Given the description of an element on the screen output the (x, y) to click on. 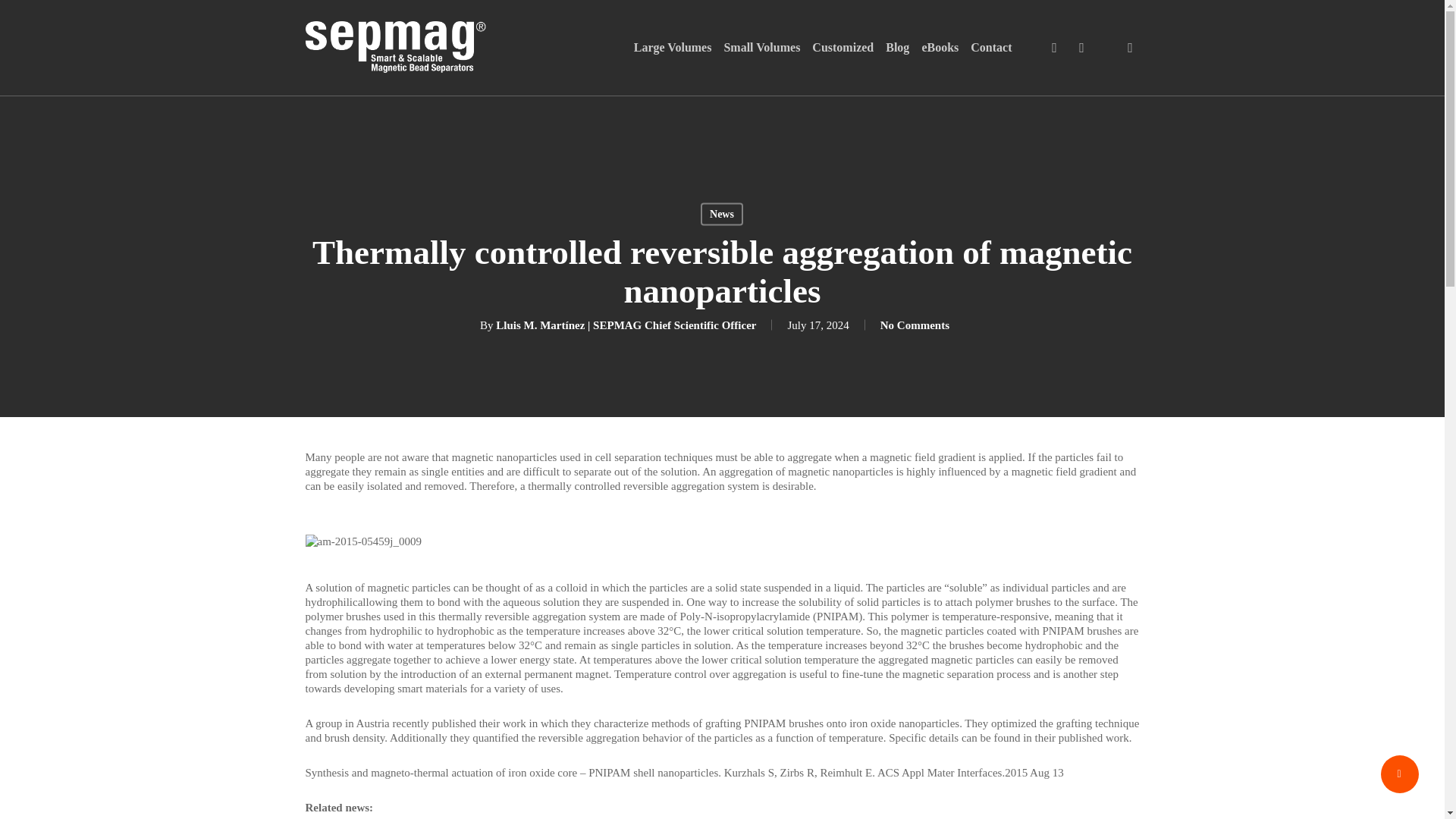
youtube (1080, 47)
Customized (842, 47)
linkedin (1054, 47)
Small Volumes (761, 47)
Contact (991, 47)
News (721, 214)
Blog (896, 47)
eBooks (939, 47)
search (1129, 47)
No Comments (914, 324)
Large Volumes (672, 47)
